Given the description of an element on the screen output the (x, y) to click on. 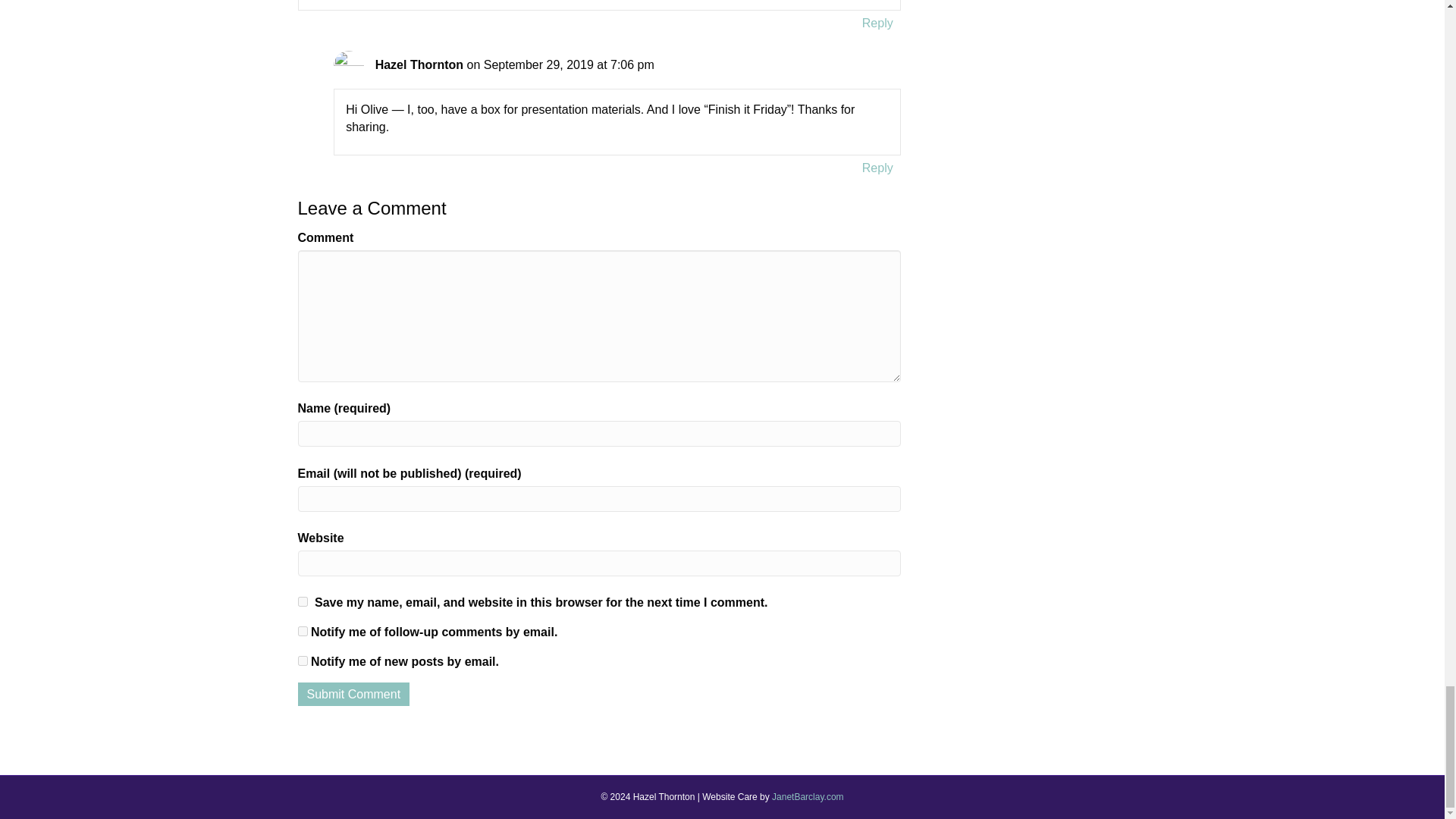
Submit Comment (353, 693)
yes (302, 601)
subscribe (302, 660)
subscribe (302, 631)
